Given the description of an element on the screen output the (x, y) to click on. 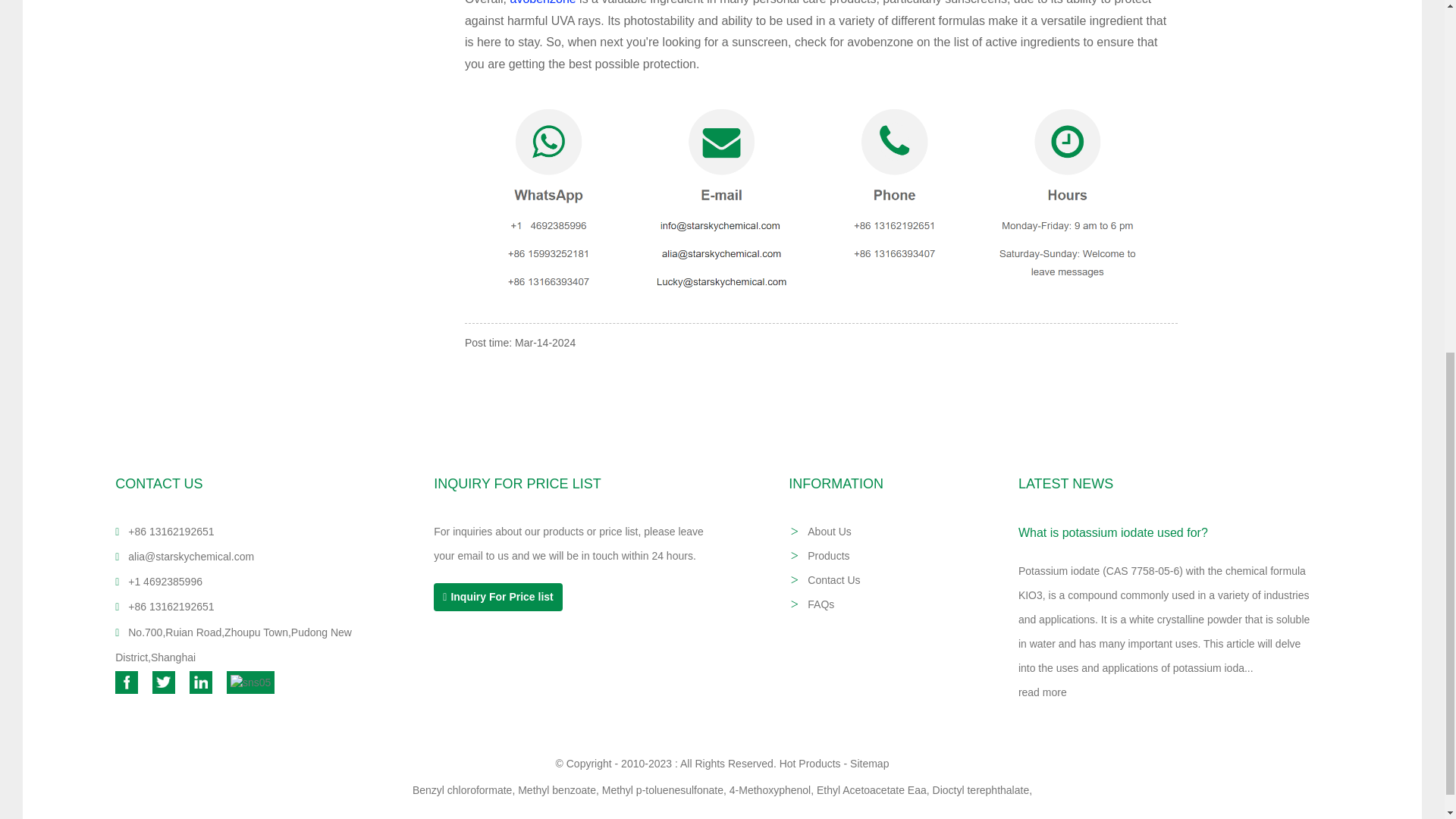
Dioctyl terephthalate (981, 789)
What is potassium iodate used for? (1112, 532)
avobenzone (542, 2)
Methyl p-toluenesulfonate (662, 789)
4-Methoxyphenol (769, 789)
FAQs (821, 604)
About Us (829, 531)
Hot Products (809, 763)
read more (1042, 692)
Methyl benzoate (556, 789)
Products (828, 555)
Contact Us (834, 580)
Ethyl Acetoacetate Eaa (871, 789)
Benzyl chloroformate (462, 789)
